Given the description of an element on the screen output the (x, y) to click on. 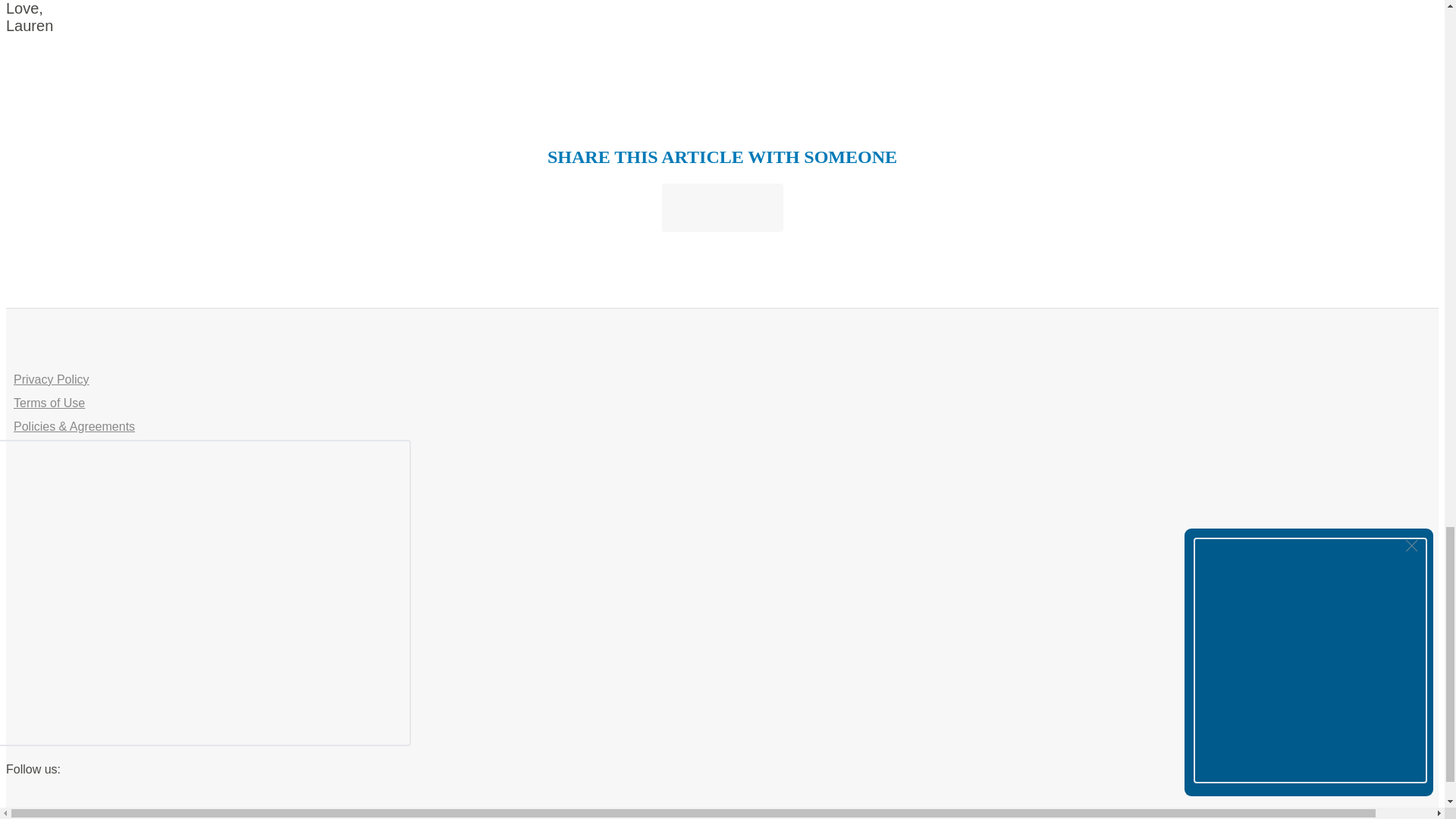
Privacy Policy (50, 380)
Terms of Use (48, 403)
